Given the description of an element on the screen output the (x, y) to click on. 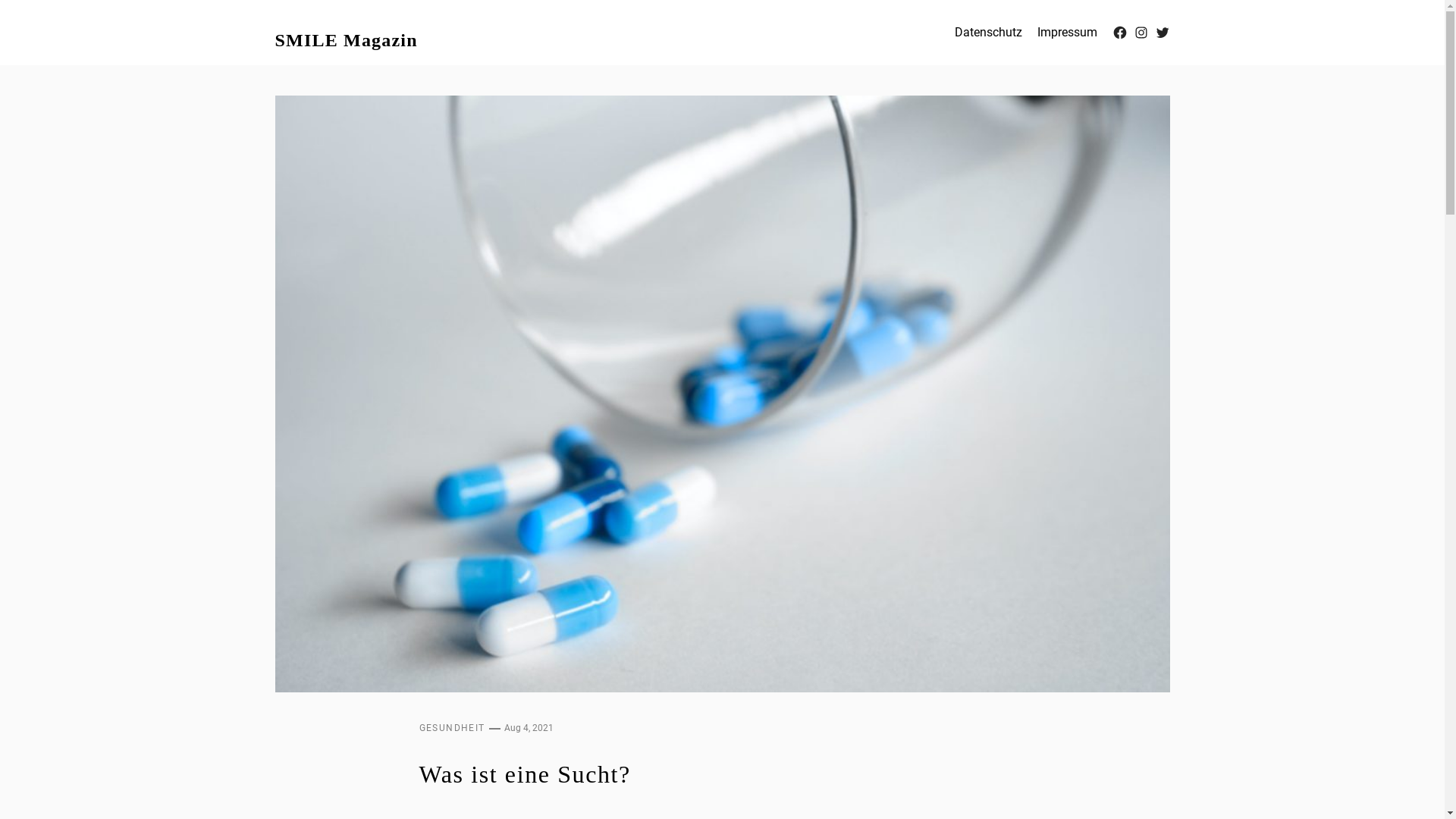
GESUNDHEIT Element type: text (451, 727)
Instagram Element type: text (1140, 32)
Facebook Element type: text (1118, 32)
SMILE Magazin Element type: text (345, 32)
Datenschutz Element type: text (987, 32)
Impressum Element type: text (1067, 32)
Twitter Element type: text (1161, 32)
